Given the description of an element on the screen output the (x, y) to click on. 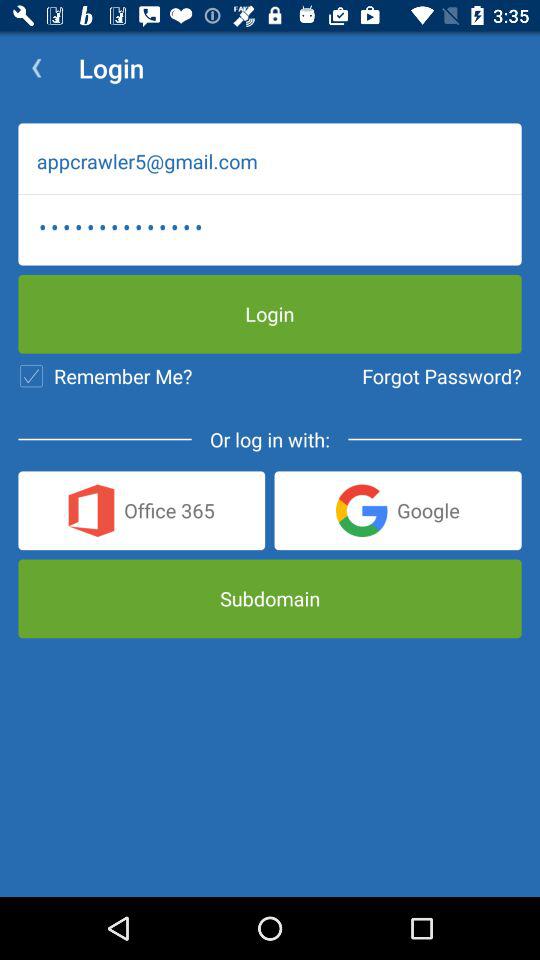
flip until appcrawler5@gmail.com icon (269, 161)
